Given the description of an element on the screen output the (x, y) to click on. 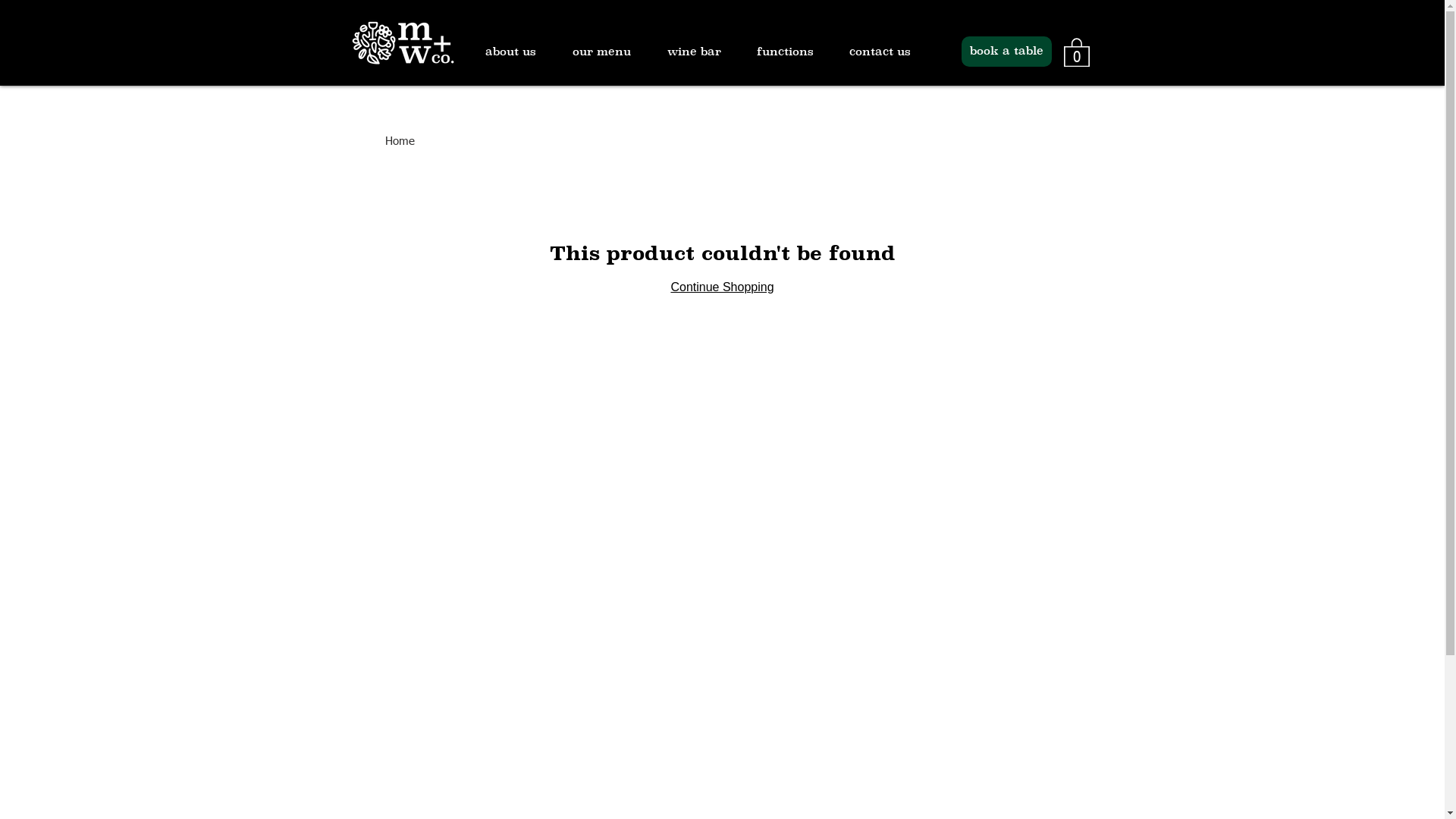
book a table Element type: text (1006, 51)
our menu Element type: text (611, 51)
functions Element type: text (795, 51)
Home Element type: text (399, 141)
Continue Shopping Element type: text (721, 286)
about us Element type: text (520, 51)
contact us Element type: text (889, 51)
0 Element type: text (1075, 51)
wine bar Element type: text (704, 51)
